Given the description of an element on the screen output the (x, y) to click on. 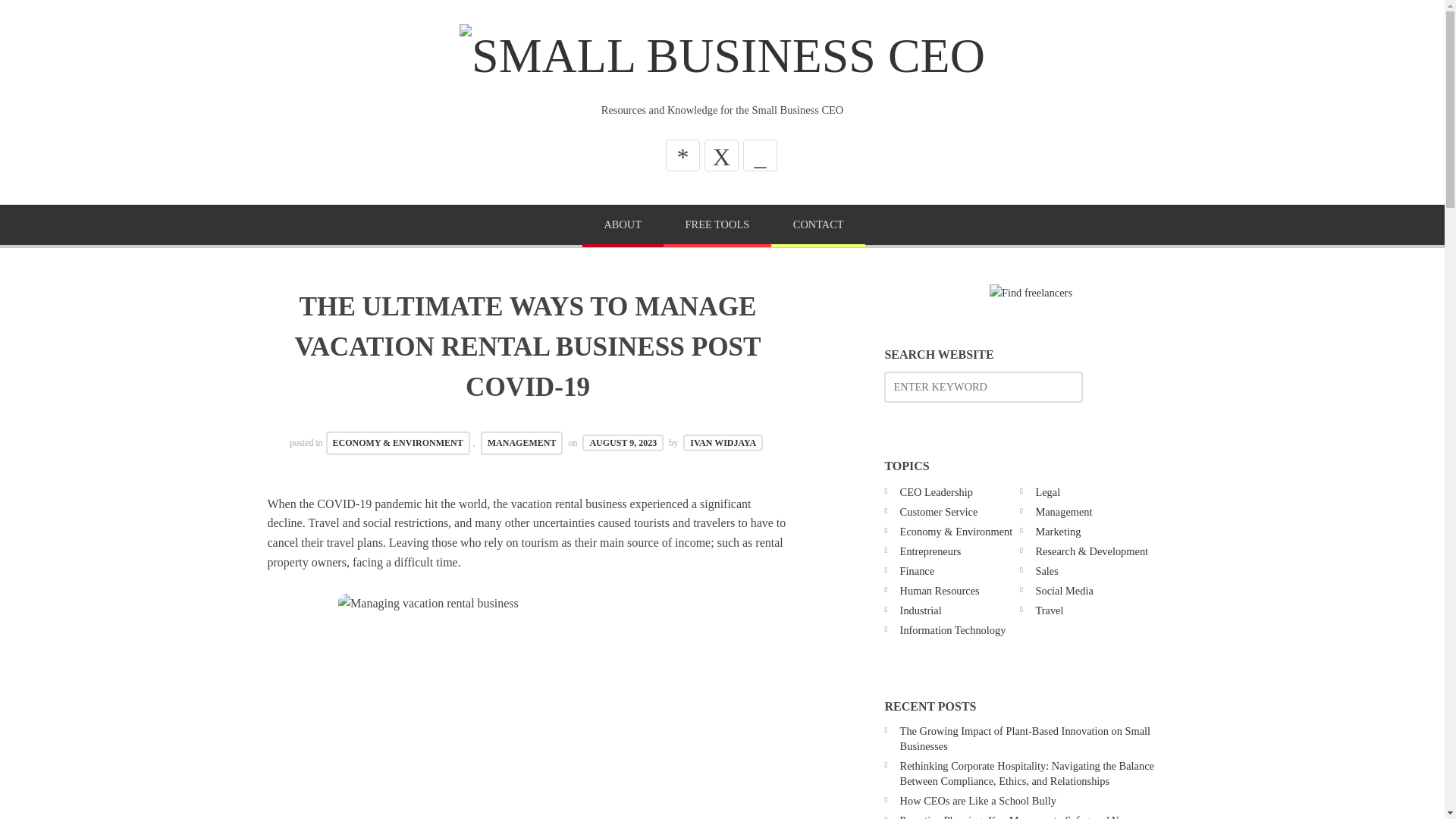
FREE TOOLS (717, 225)
X (721, 155)
CEO Leadership (935, 491)
MANAGEMENT (521, 443)
ABOUT (622, 225)
CONTACT (817, 225)
AUGUST 9, 2023 (622, 442)
IVAN WIDJAYA (722, 442)
View all posts by Ivan Widjaya (722, 442)
Customer Service (938, 511)
